Given the description of an element on the screen output the (x, y) to click on. 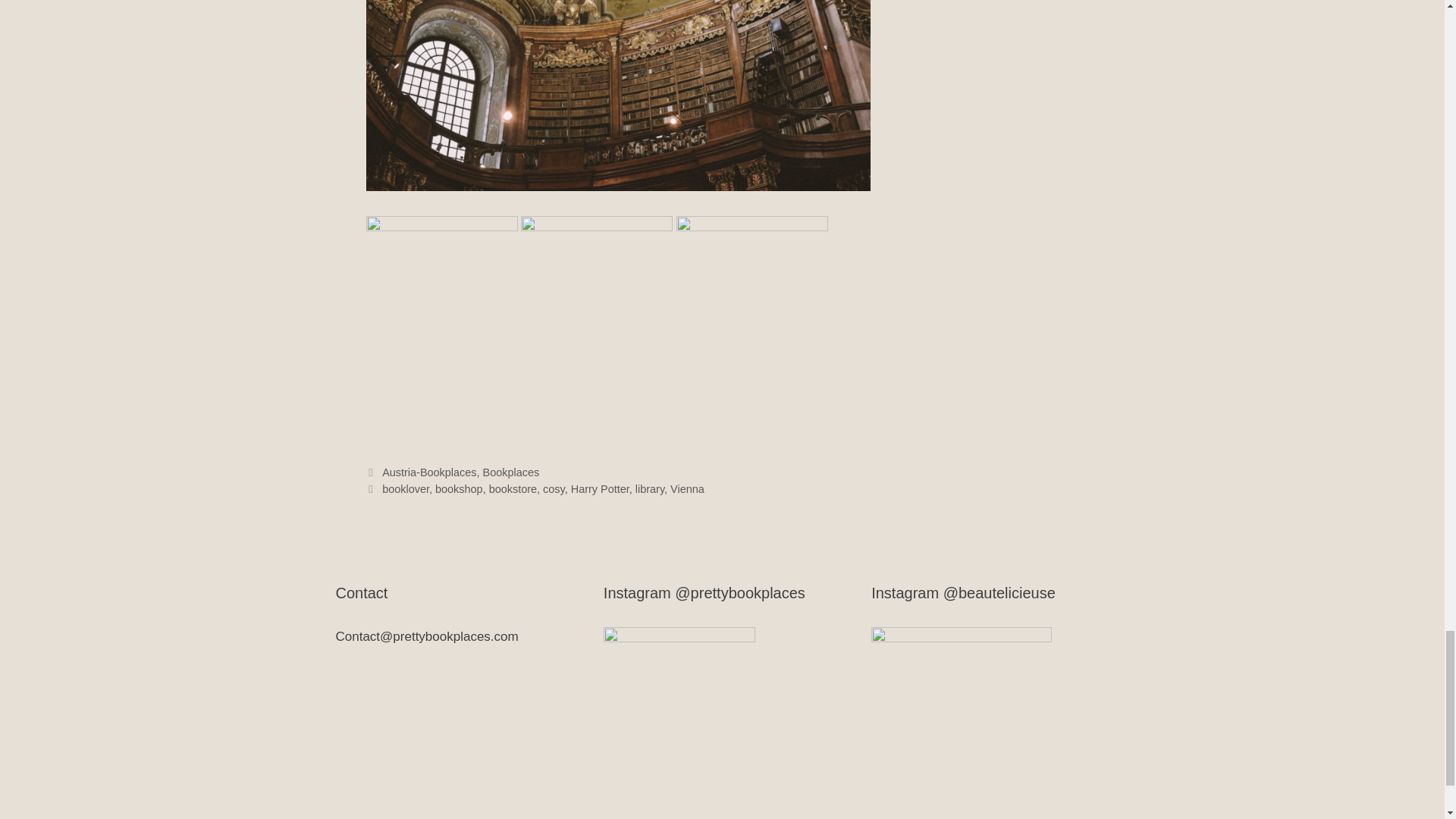
Bookplaces (511, 472)
library (648, 489)
Harry Potter (599, 489)
booklover (405, 489)
Vienna (686, 489)
Austria-Bookplaces (428, 472)
bookshop (459, 489)
cosy (553, 489)
bookstore (513, 489)
